Given the description of an element on the screen output the (x, y) to click on. 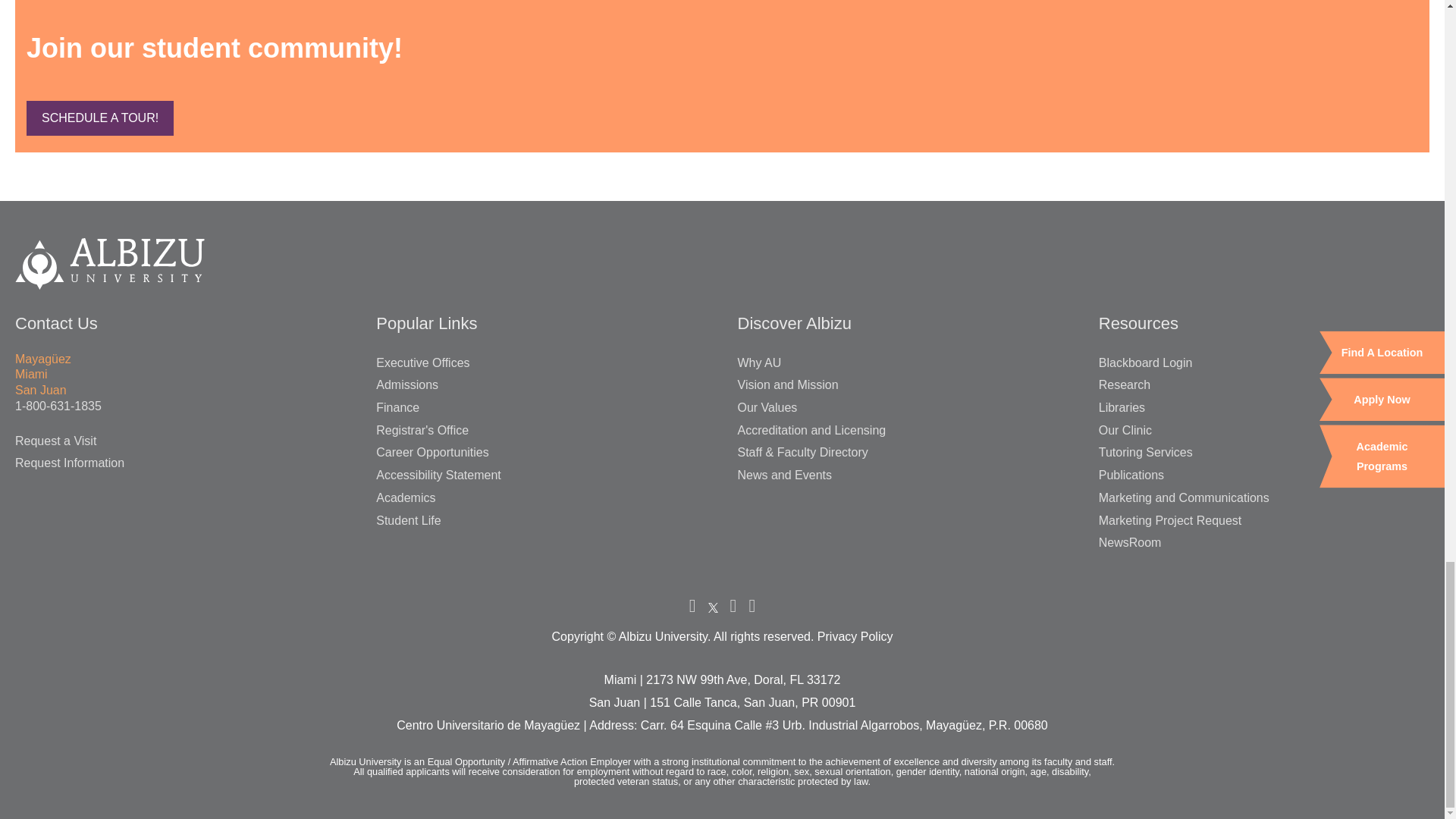
Programs (99, 117)
